Given the description of an element on the screen output the (x, y) to click on. 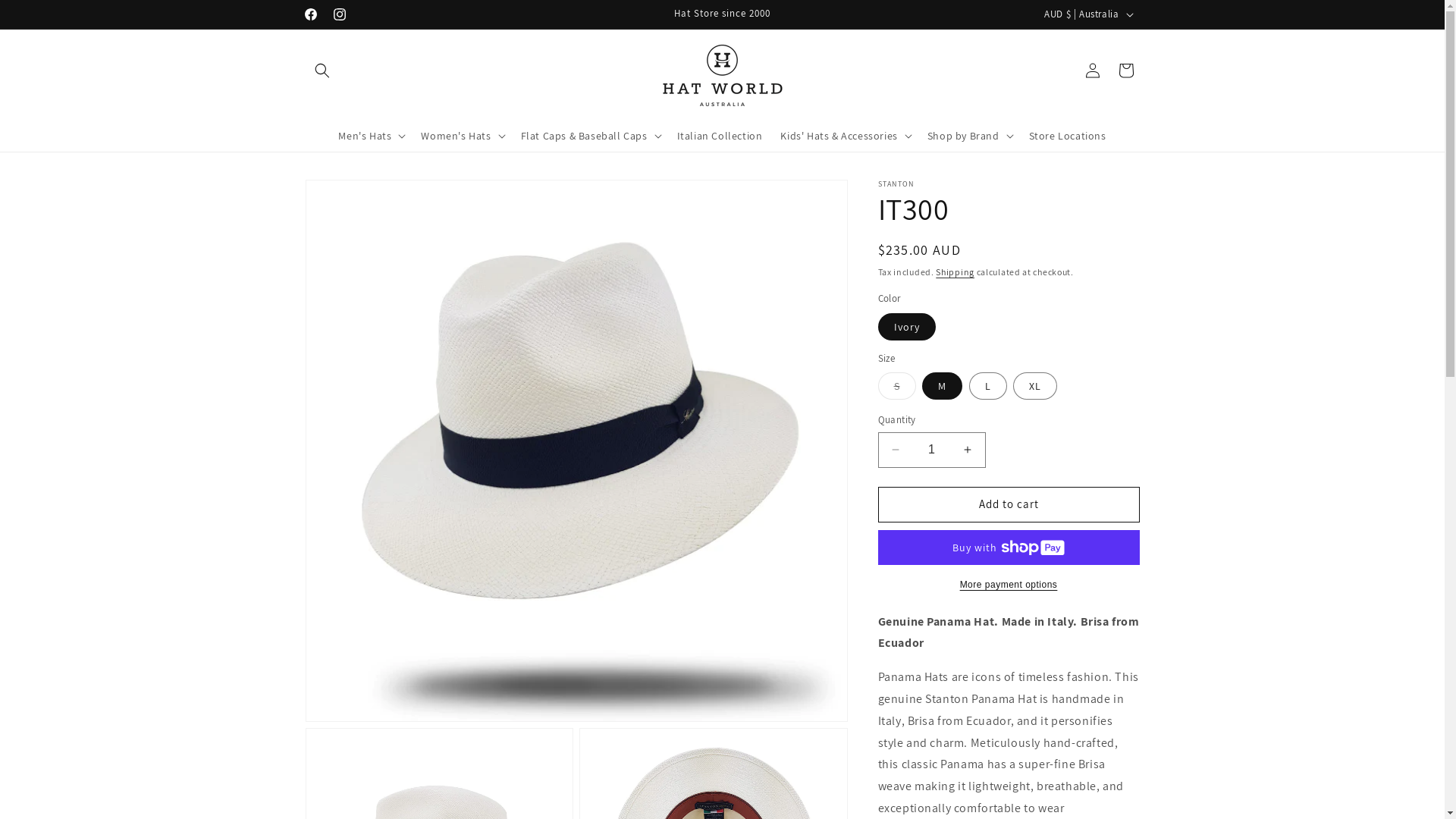
AUD $ | Australia Element type: text (1087, 14)
Store Locations Element type: text (1067, 135)
Facebook Element type: text (309, 14)
Skip to product information Element type: text (350, 196)
Shipping Element type: text (954, 271)
Italian Collection Element type: text (719, 135)
Decrease quantity for IT300 Element type: text (895, 449)
Cart Element type: text (1125, 70)
Instagram Element type: text (338, 14)
Add to cart Element type: text (1008, 504)
More payment options Element type: text (1008, 584)
Log in Element type: text (1091, 70)
Increase quantity for IT300 Element type: text (967, 449)
